Given the description of an element on the screen output the (x, y) to click on. 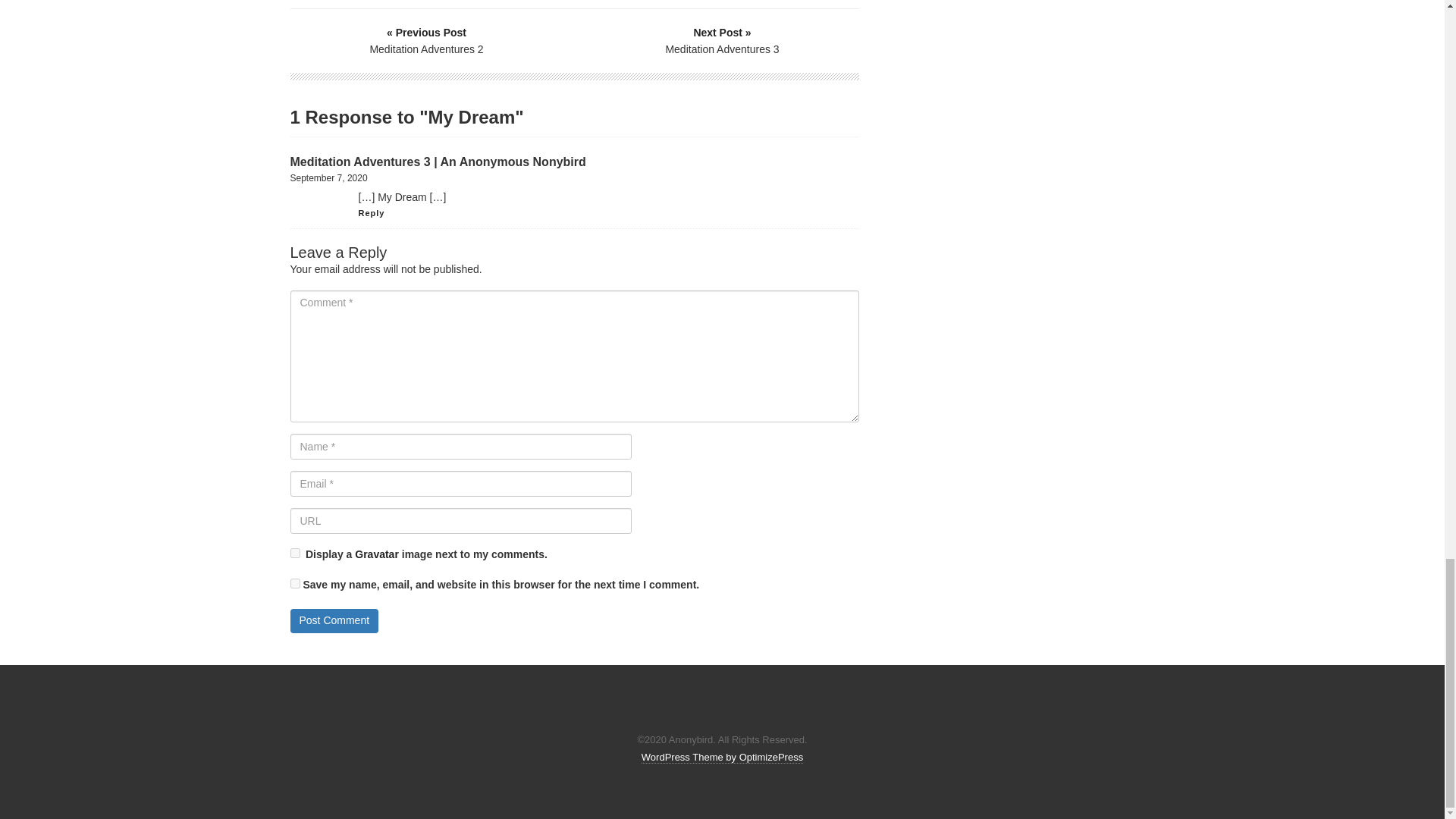
Meditation Adventures 3 (722, 40)
Post Comment (333, 621)
Meditation Adventures 2 (427, 40)
Reply (371, 212)
yes (294, 583)
Post Comment (333, 621)
true (294, 552)
Gravatar (376, 553)
